Given the description of an element on the screen output the (x, y) to click on. 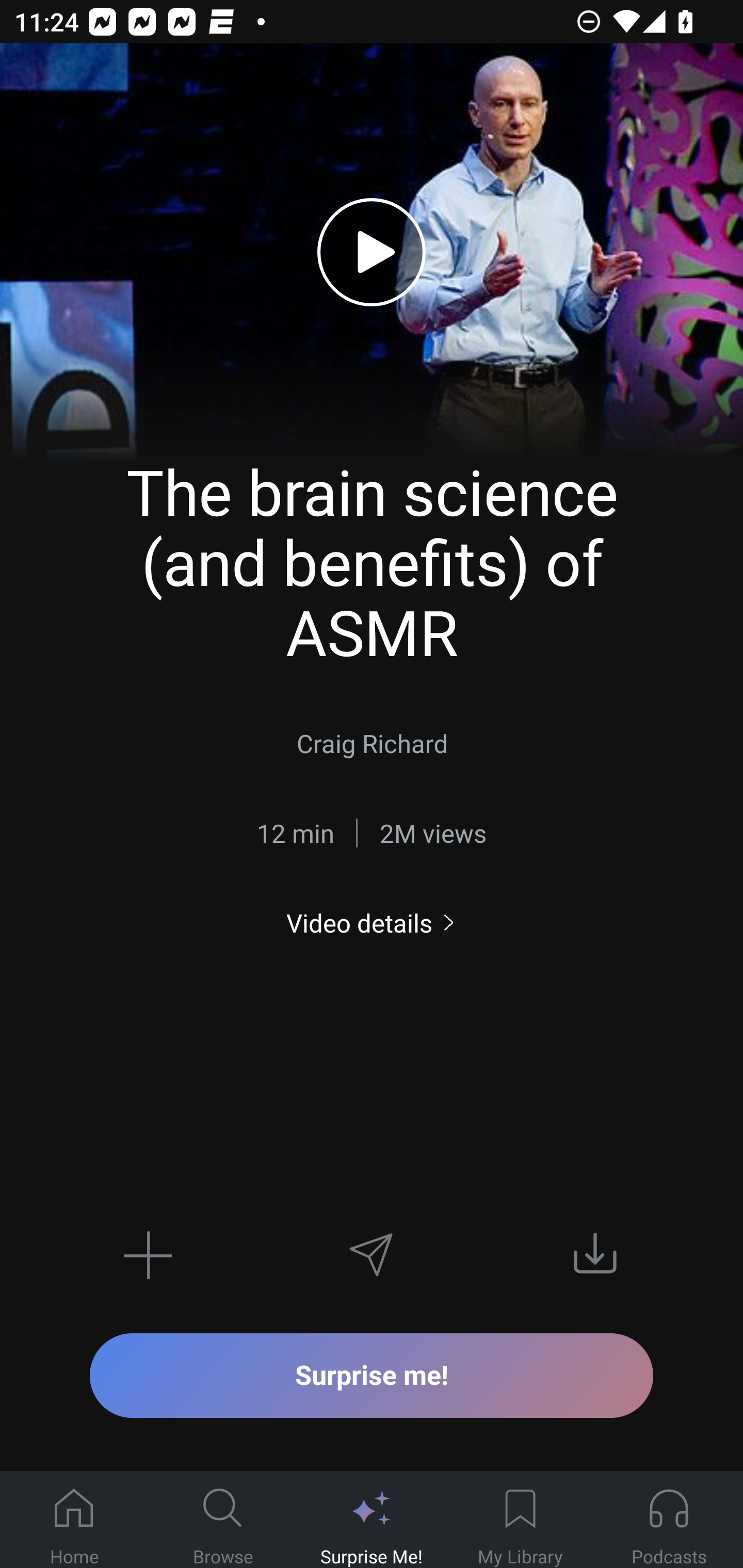
Video details (371, 922)
Surprise me! (371, 1374)
Home (74, 1520)
Browse (222, 1520)
Surprise Me! (371, 1520)
My Library (519, 1520)
Podcasts (668, 1520)
